Given the description of an element on the screen output the (x, y) to click on. 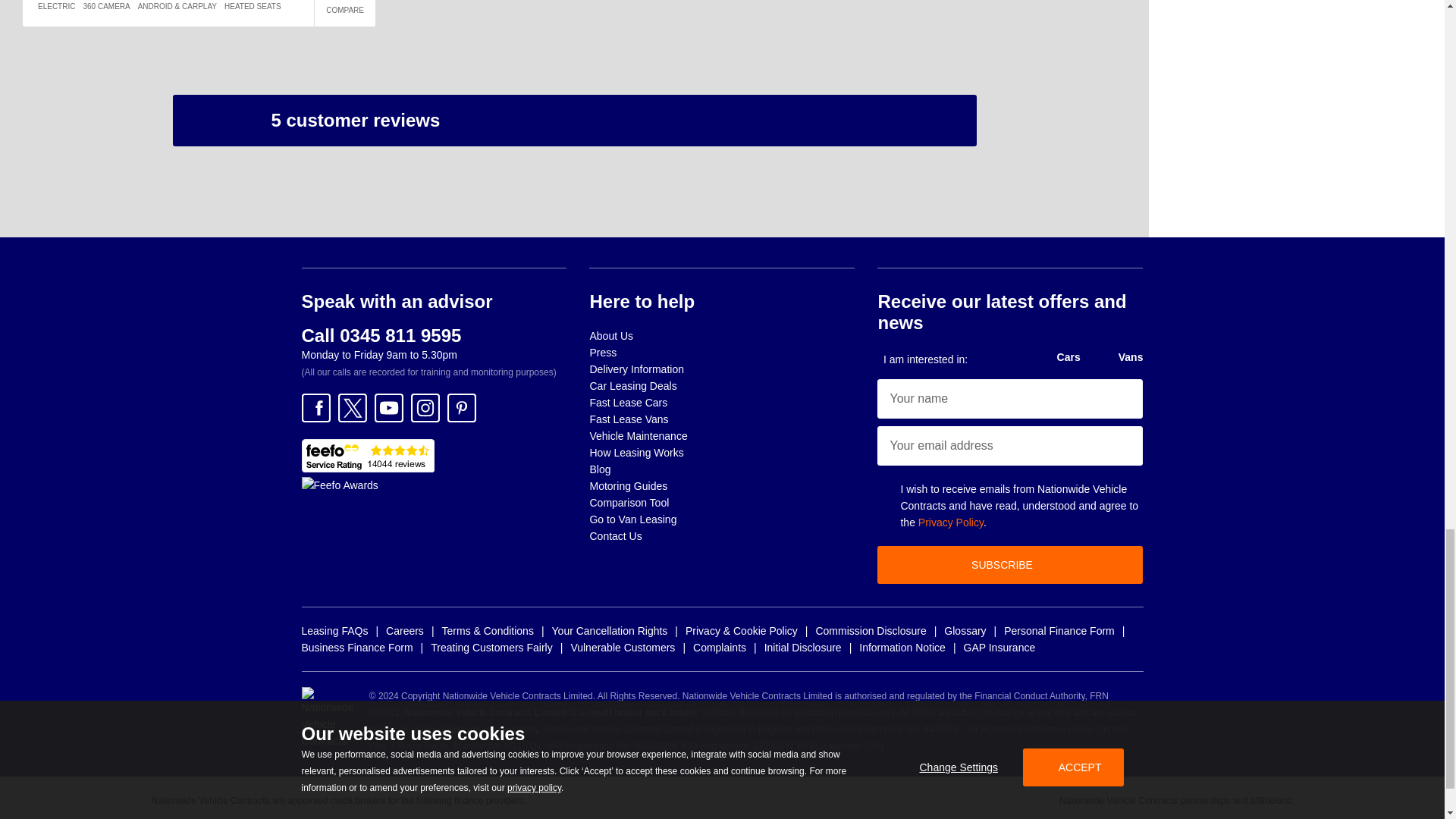
Our customer Feefo rating (367, 455)
Privacy Policy (951, 522)
Feefo Platinum Trusted Service Award 2024 (339, 484)
